Given the description of an element on the screen output the (x, y) to click on. 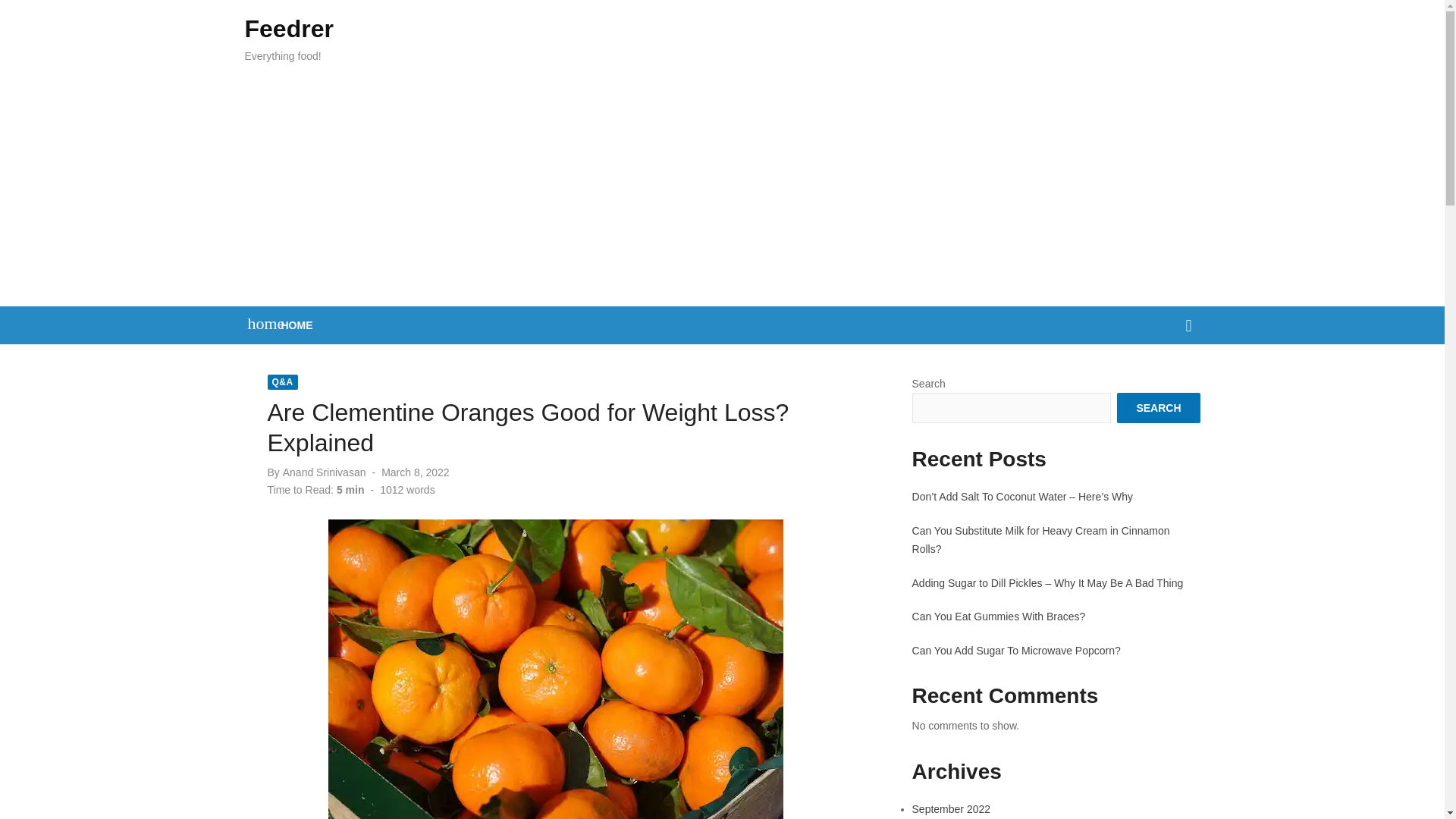
HOME (296, 324)
March 8, 2022 (415, 472)
home (258, 323)
Can You Eat Gummies With Braces? (999, 616)
September 2022 (951, 808)
Feedrer (288, 28)
Can You Add Sugar To Microwave Popcorn? (1016, 650)
Anand Srinivasan (324, 472)
Can You Substitute Milk for Heavy Cream in Cinnamon Rolls? (1041, 540)
SEARCH (1157, 408)
